Given the description of an element on the screen output the (x, y) to click on. 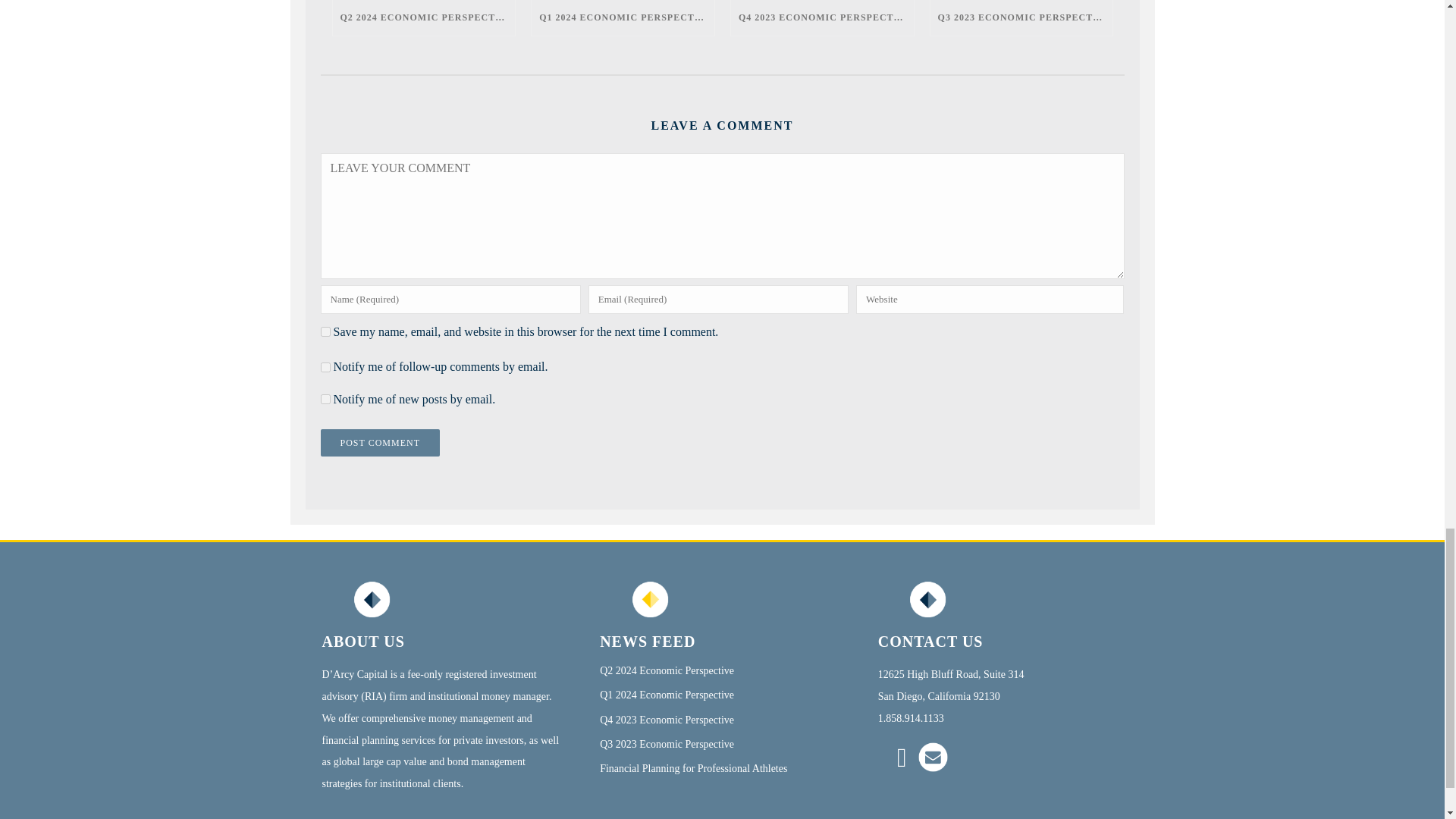
subscribe (325, 398)
subscribe (325, 367)
POST COMMENT (379, 442)
yes (325, 331)
